Given the description of an element on the screen output the (x, y) to click on. 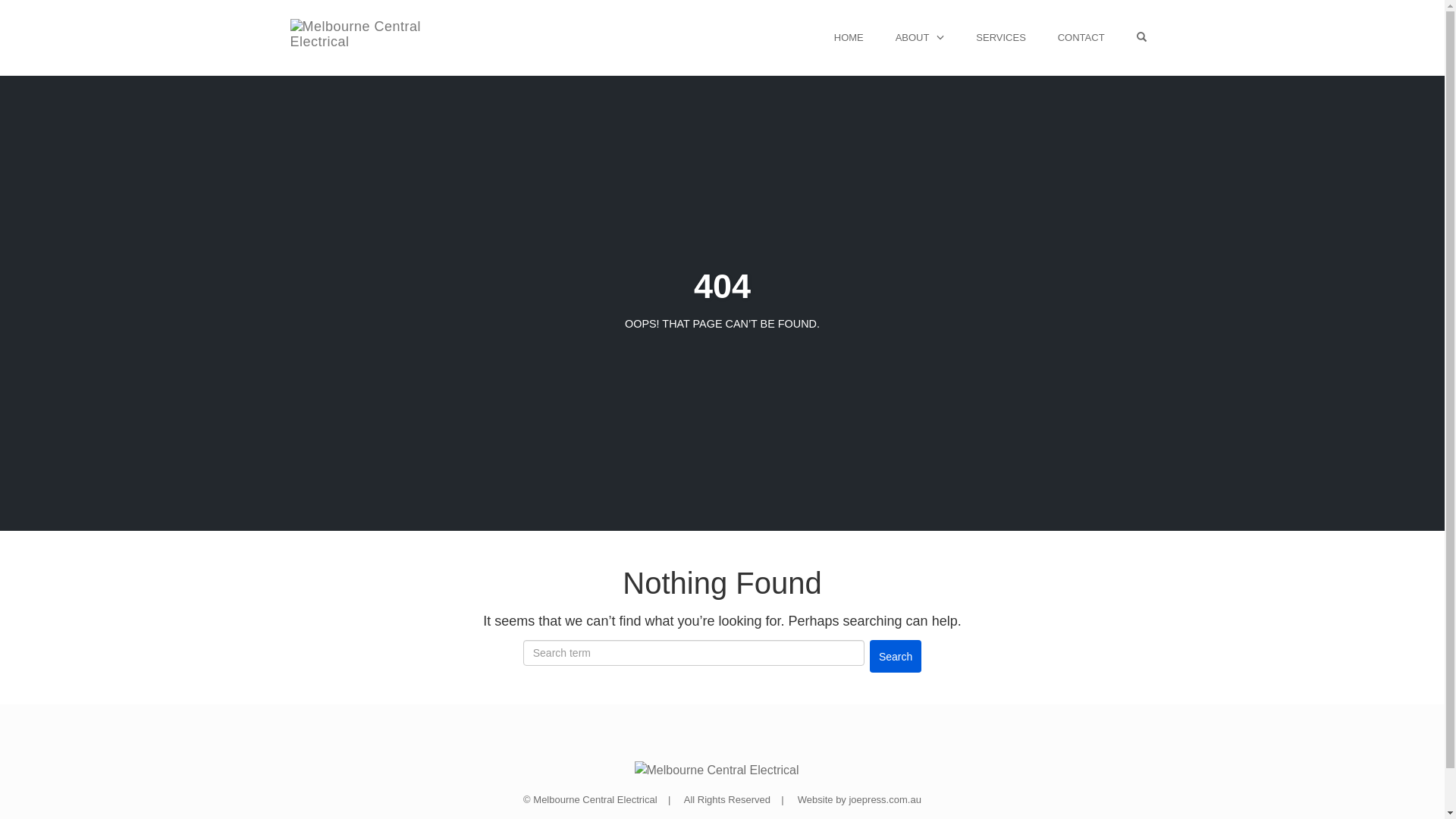
ABOUT Element type: text (920, 37)
Melbourne Central Electrical Element type: hover (357, 37)
OPEN SEARCH FORM Element type: text (1141, 37)
CONTACT Element type: text (1081, 37)
Melbourne Central Electrical Element type: hover (715, 770)
HOME Element type: text (848, 37)
Search Element type: text (895, 656)
joepress.com.au Element type: text (884, 799)
SERVICES Element type: text (1000, 37)
